Given the description of an element on the screen output the (x, y) to click on. 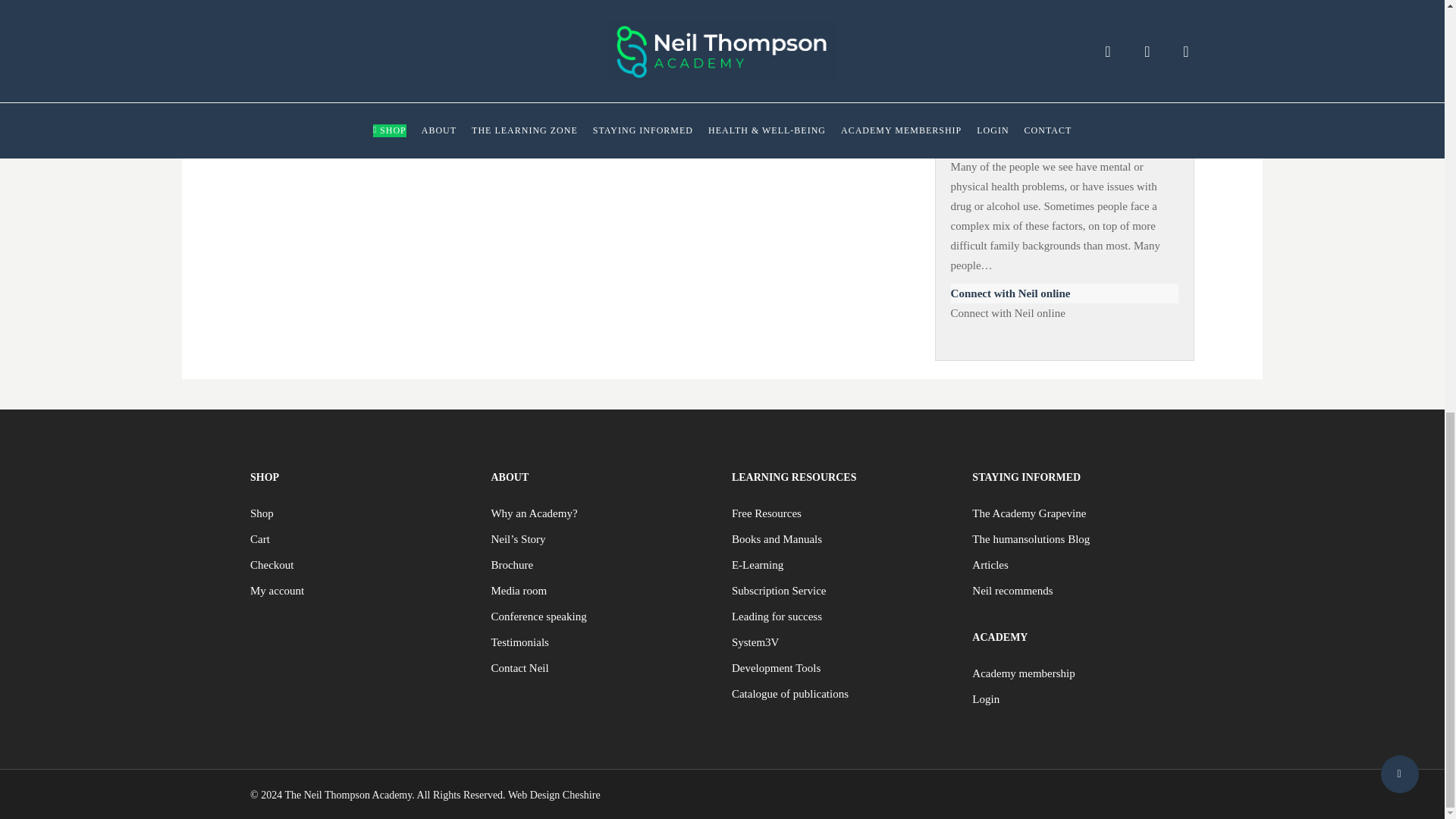
Causes of homelessness (1063, 147)
Connect with Neil online (1063, 293)
